Given the description of an element on the screen output the (x, y) to click on. 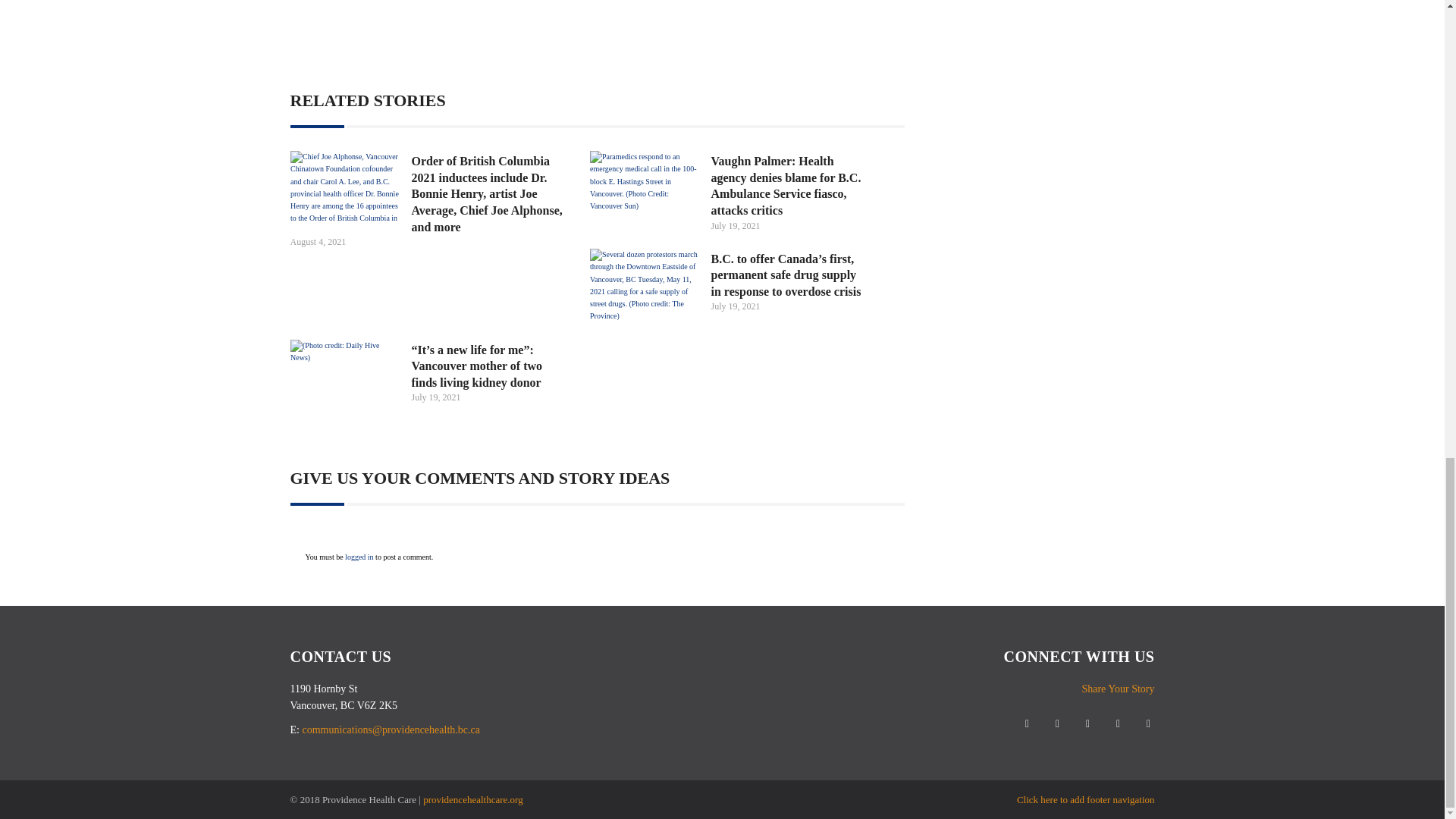
Share Your Story (1117, 688)
logged in (359, 556)
